Given the description of an element on the screen output the (x, y) to click on. 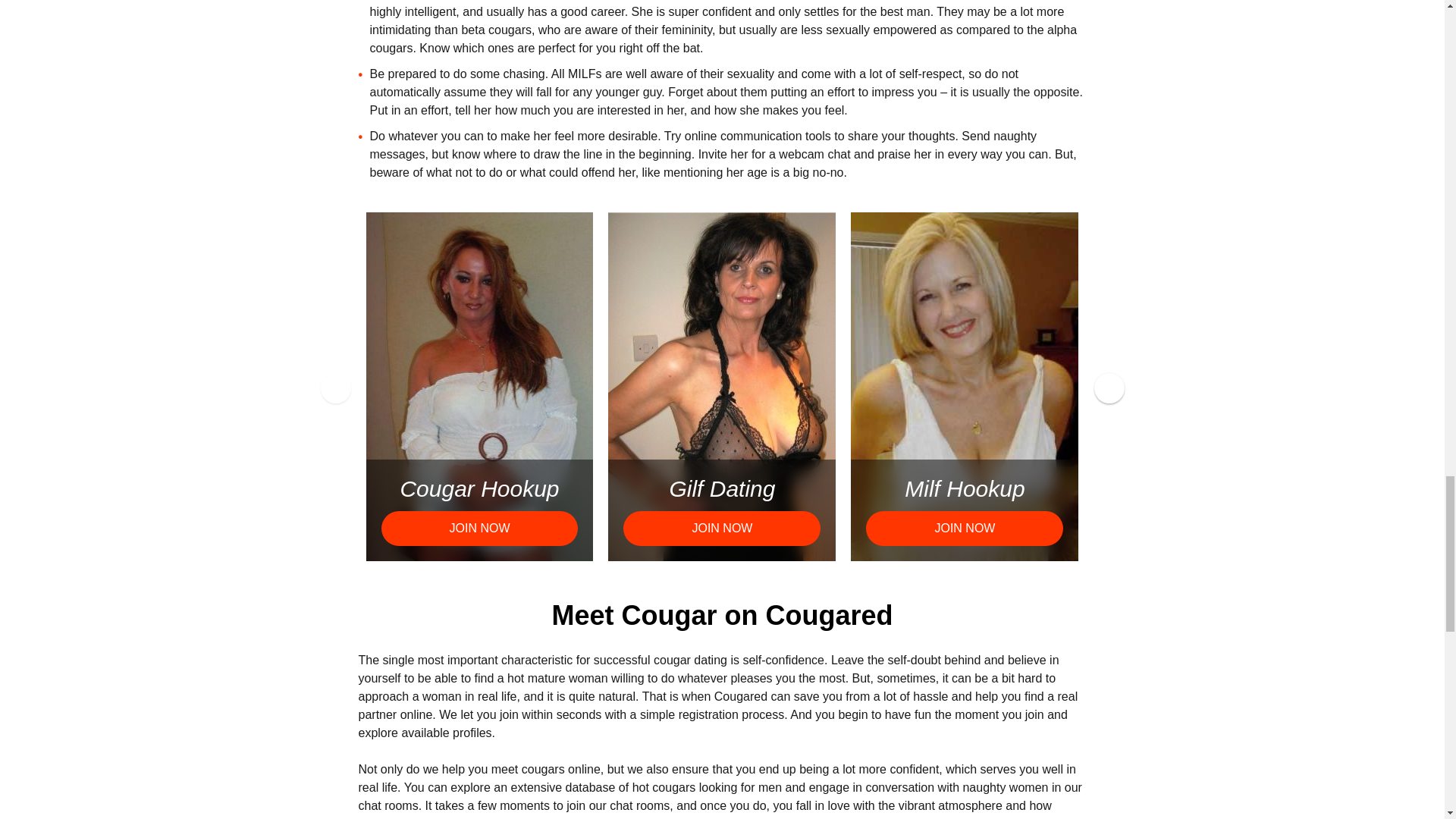
Gilf Dating (721, 488)
Cougar Hookup (478, 488)
JOIN NOW (722, 528)
JOIN NOW (479, 528)
JOIN NOW (964, 528)
Milf Hookup (964, 488)
